Given the description of an element on the screen output the (x, y) to click on. 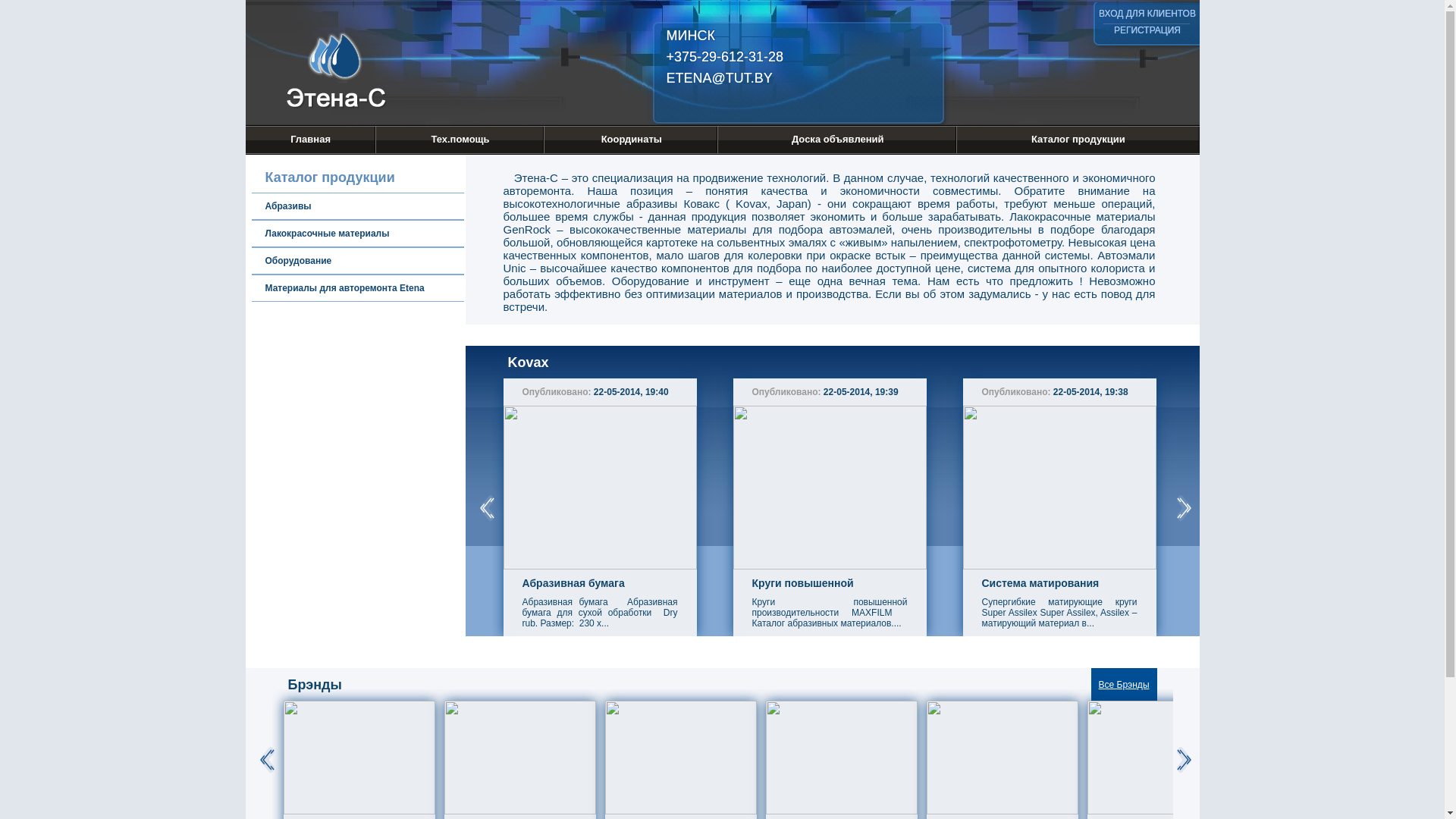
FASTDL Element type: text (998, 30)
SSSINSTAGRAM Element type: text (1063, 30)
